Given the description of an element on the screen output the (x, y) to click on. 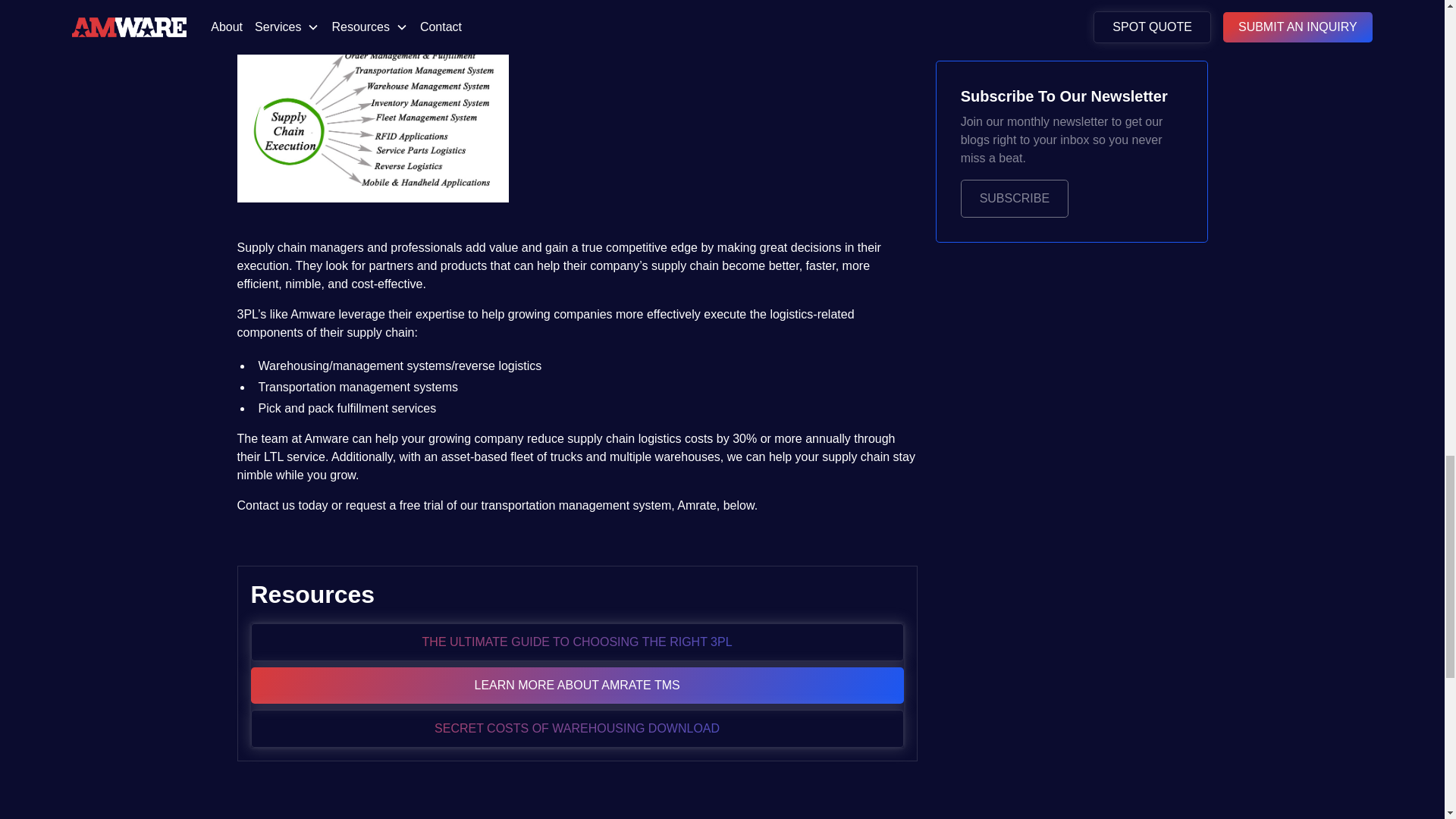
SECRET COSTS OF WAREHOUSING DOWNLOAD (576, 728)
THE ULTIMATE GUIDE TO CHOOSING THE RIGHT 3PL (576, 641)
LEARN MORE ABOUT AMRATE TMS (576, 685)
